Given the description of an element on the screen output the (x, y) to click on. 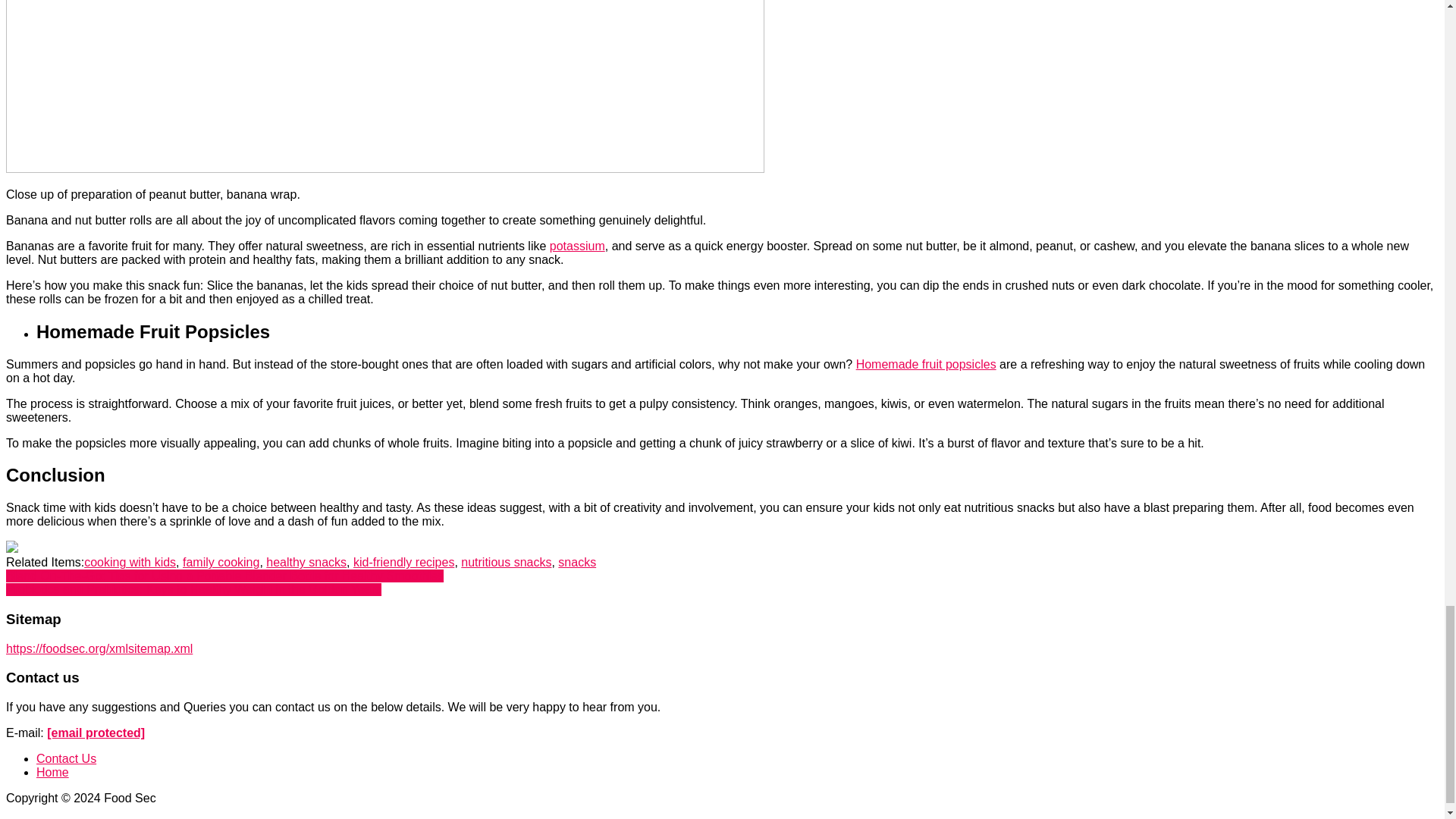
potassium (577, 245)
Home (52, 771)
cooking with kids (130, 562)
Contact Us (66, 758)
kid-friendly recipes (403, 562)
snacks (576, 562)
healthy snacks (306, 562)
nutritious snacks (506, 562)
Homemade fruit popsicles (925, 364)
family cooking (221, 562)
